Given the description of an element on the screen output the (x, y) to click on. 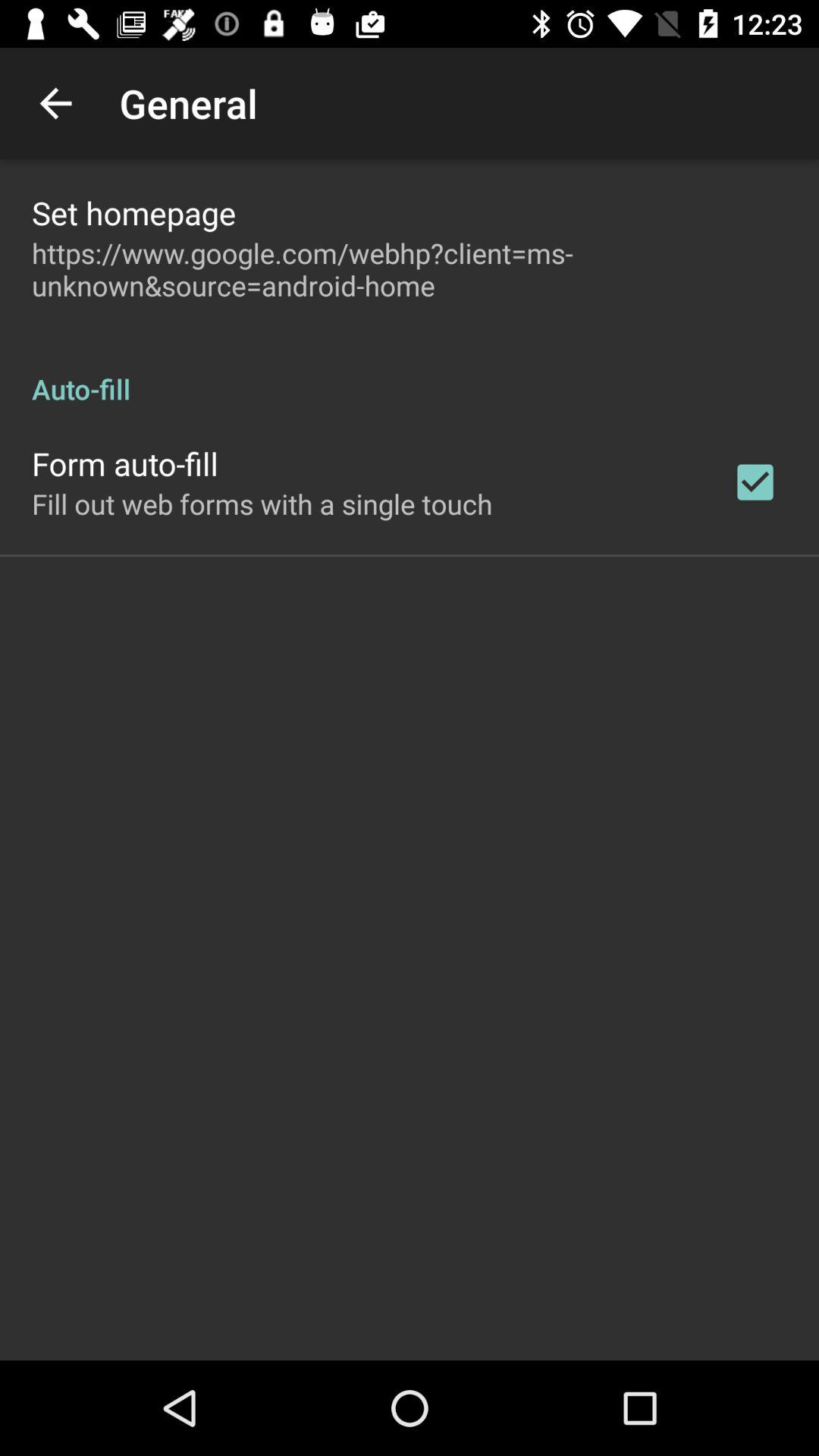
select icon on the left (261, 503)
